Given the description of an element on the screen output the (x, y) to click on. 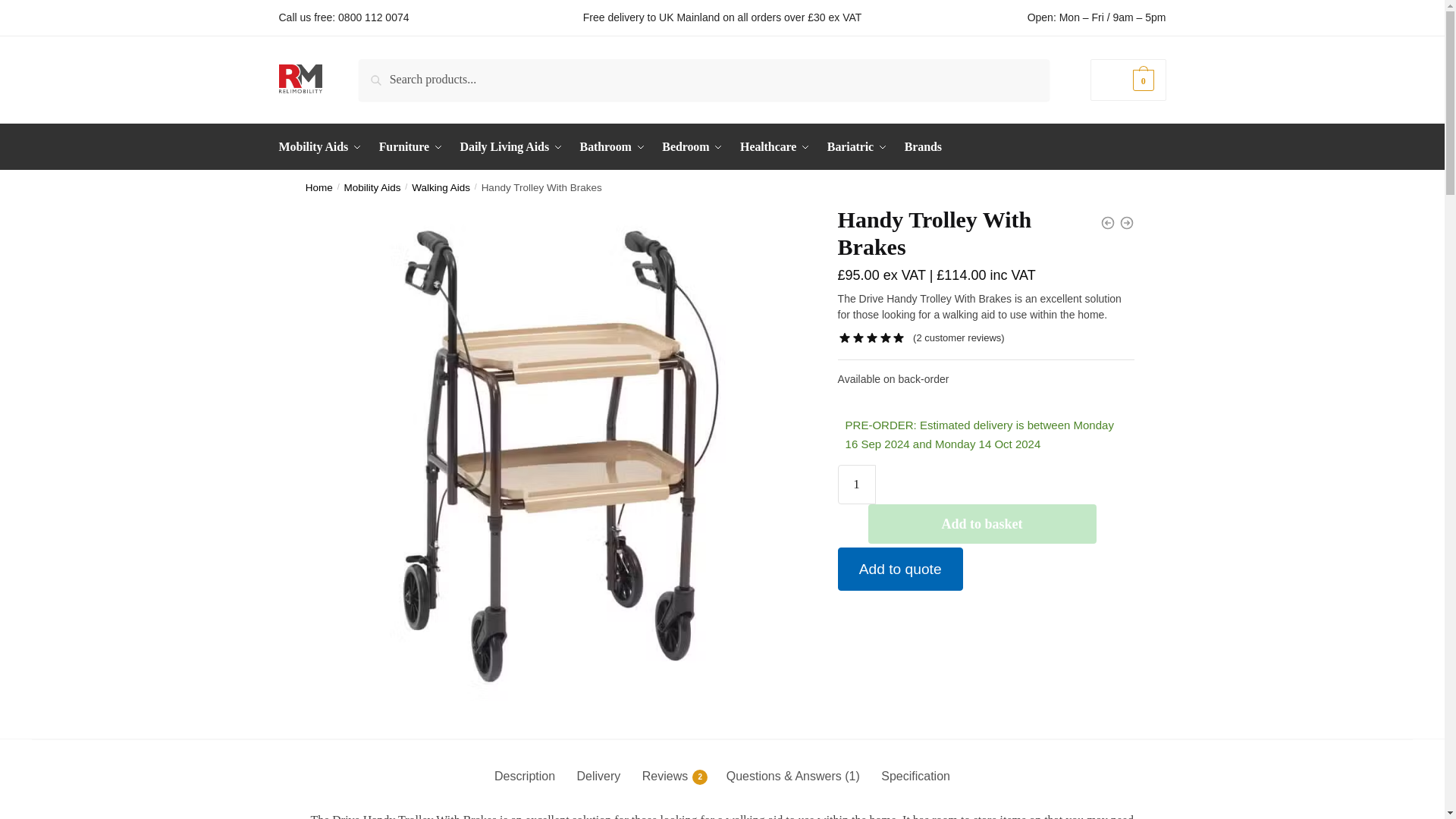
View your shopping cart (1128, 79)
Mobility Aids (323, 146)
1 (857, 484)
Search (379, 69)
